Given the description of an element on the screen output the (x, y) to click on. 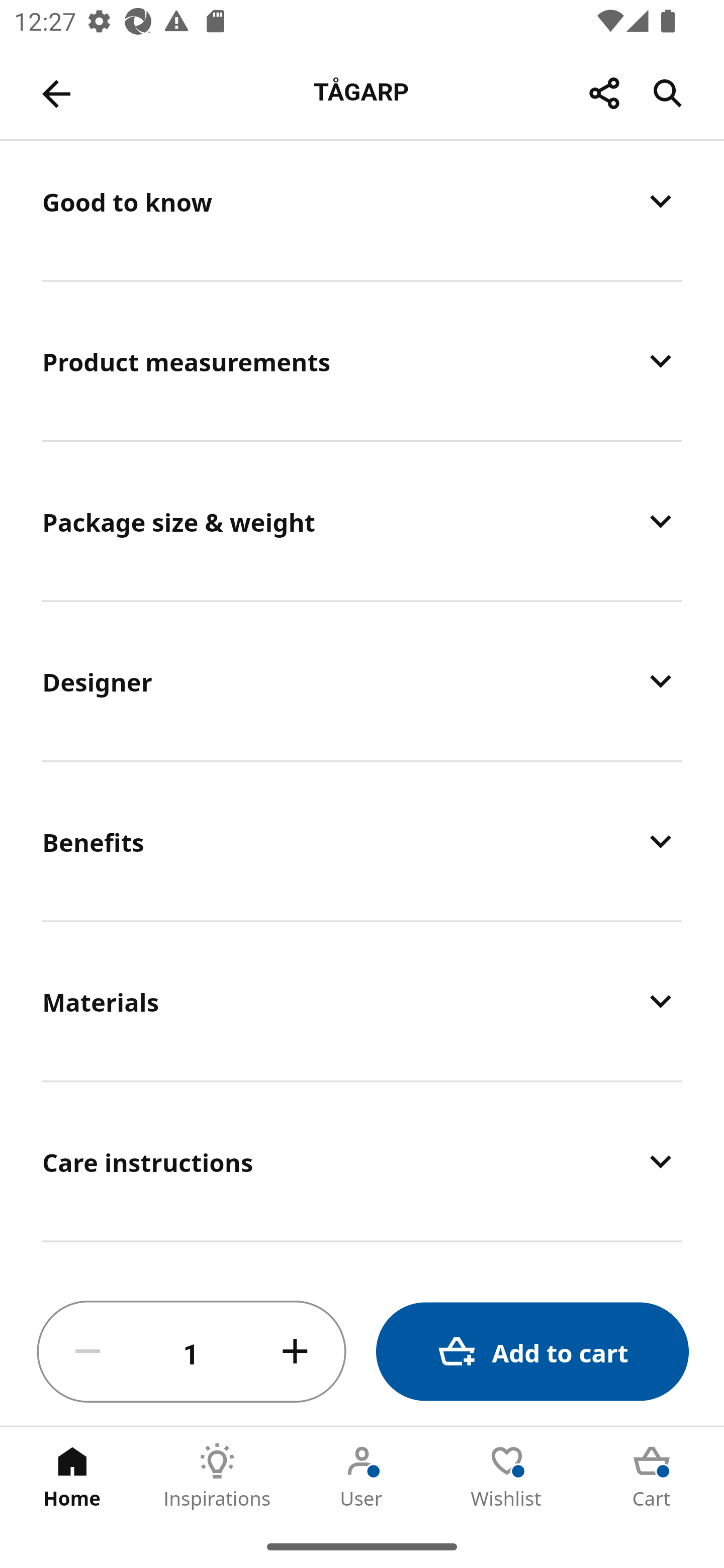
Good to know (361, 210)
Product measurements (361, 360)
Package size & weight (361, 520)
Designer (361, 680)
Benefits (361, 840)
Materials (361, 1000)
Care instructions (361, 1160)
Add to cart (531, 1352)
1 (191, 1352)
Home
Tab 1 of 5 (72, 1476)
Inspirations
Tab 2 of 5 (216, 1476)
User
Tab 3 of 5 (361, 1476)
Wishlist
Tab 4 of 5 (506, 1476)
Cart
Tab 5 of 5 (651, 1476)
